Given the description of an element on the screen output the (x, y) to click on. 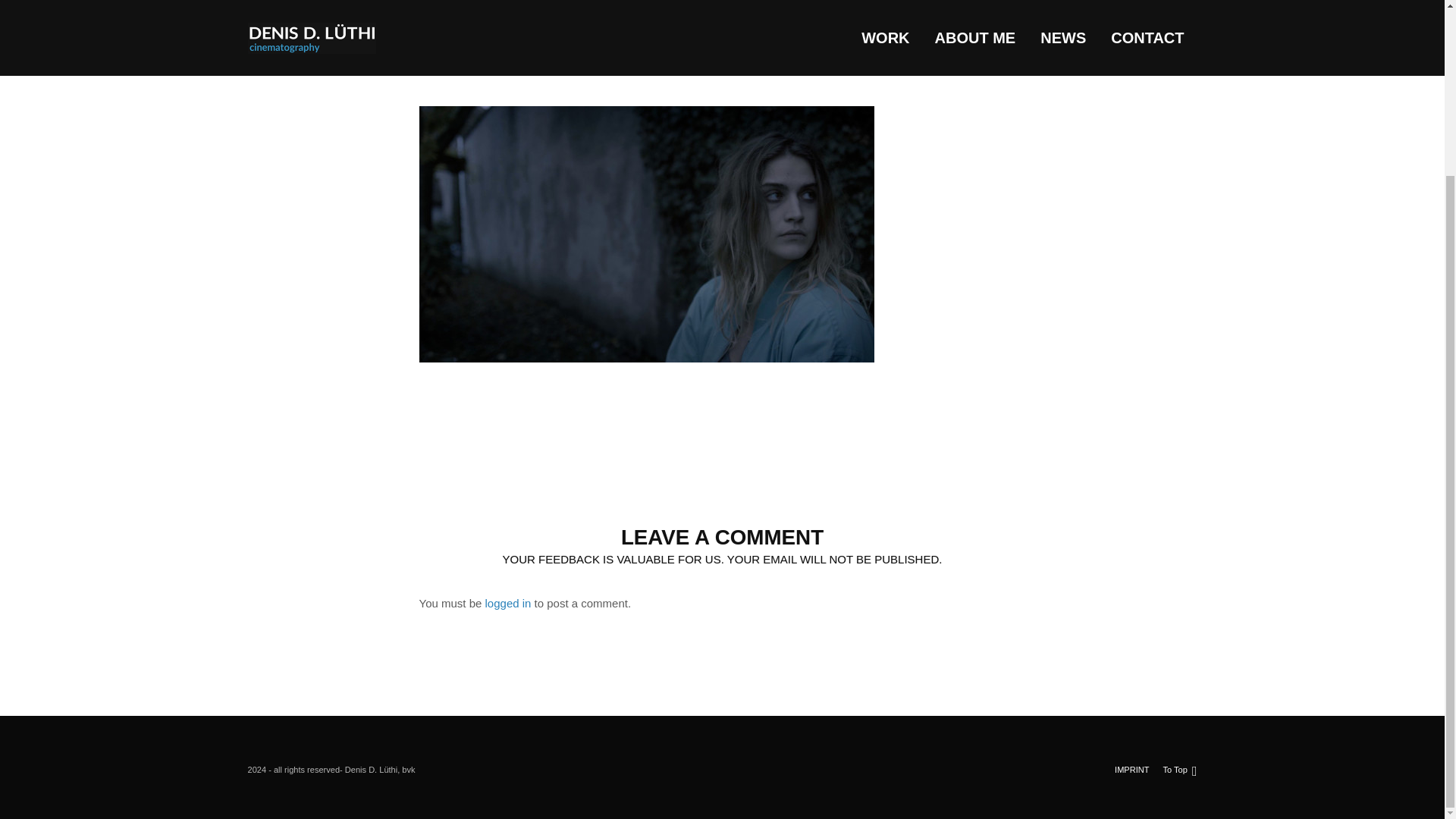
To Top (1179, 555)
logged in (507, 603)
IMPRINT (1131, 555)
